Given the description of an element on the screen output the (x, y) to click on. 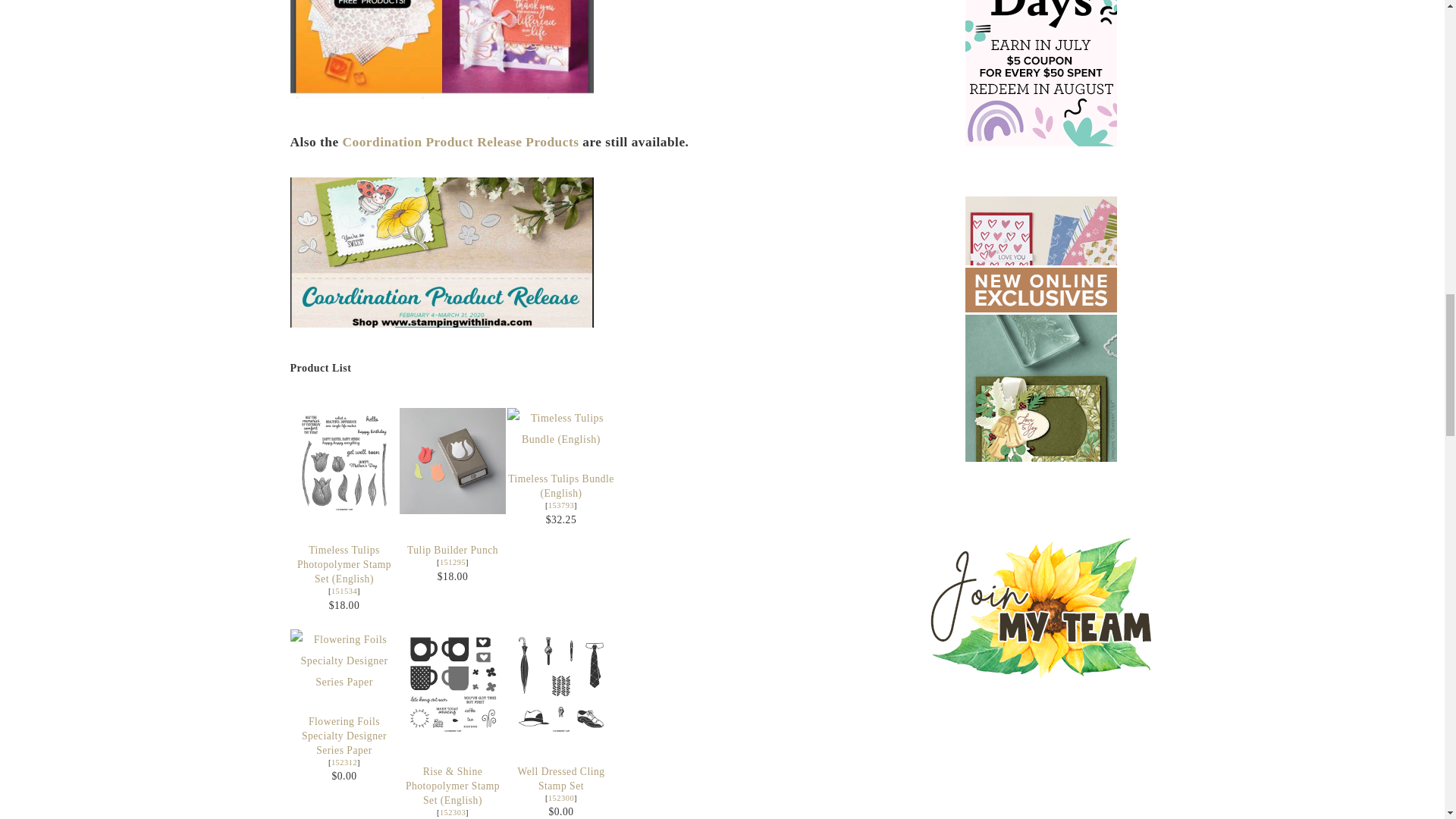
Tulip Builder Punch (452, 550)
153793 (560, 505)
Tulip Builder Punch (452, 550)
Tulip Builder Punch (452, 561)
Coordination Product Release Products (460, 142)
151534 (343, 591)
Tulip Builder Punch (451, 460)
Tulip Builder Punch (451, 510)
152312 (343, 762)
151295 (452, 561)
Flowering Foils Specialty Designer Series Paper (344, 735)
